Given the description of an element on the screen output the (x, y) to click on. 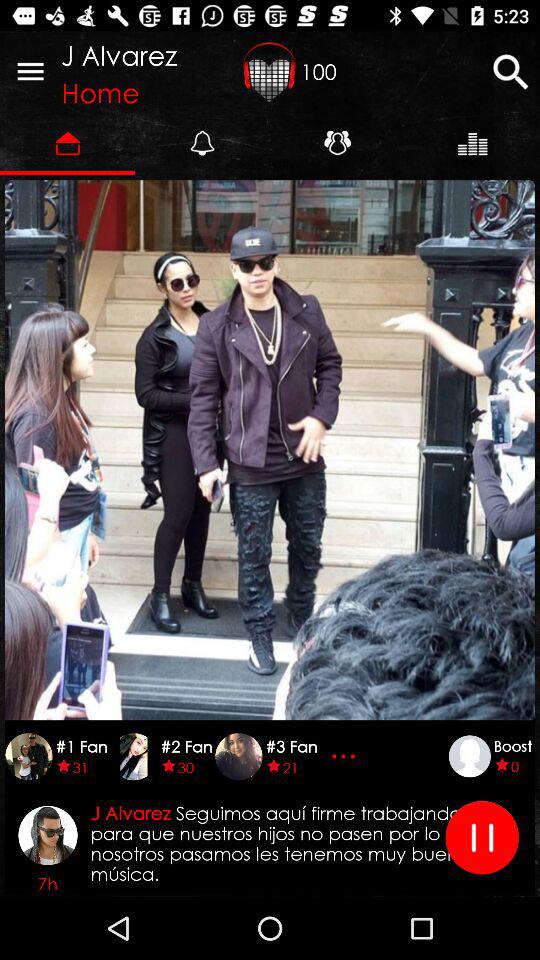
click icon next to j alvarez icon (30, 70)
